Given the description of an element on the screen output the (x, y) to click on. 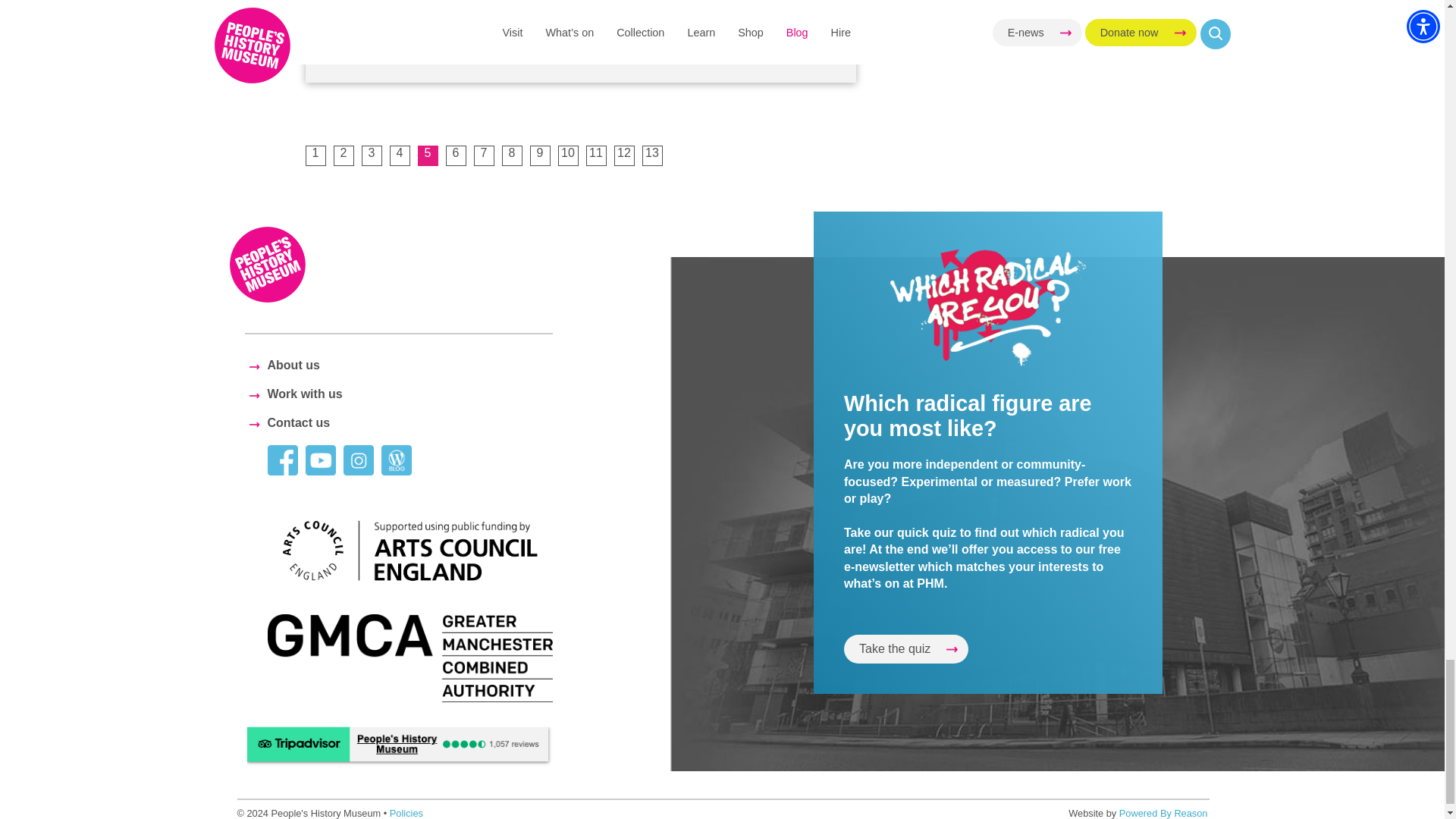
1 (314, 155)
8 (512, 155)
6 (455, 155)
9 (539, 155)
4 (400, 155)
Read more (376, 36)
2 (343, 155)
5 (427, 155)
3 (371, 155)
7 (483, 155)
